Given the description of an element on the screen output the (x, y) to click on. 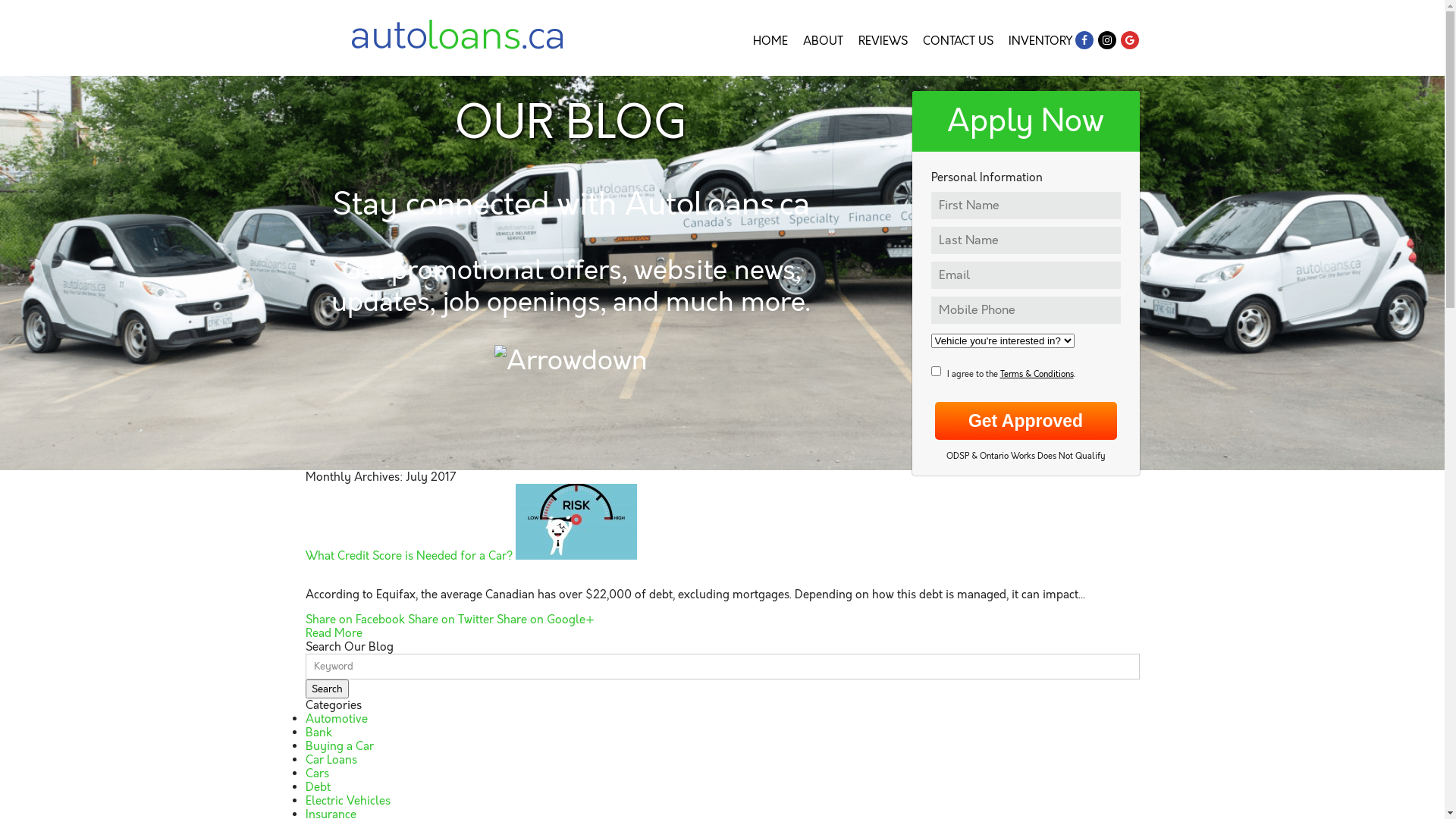
Share on Facebook Element type: text (354, 619)
CONTACT US Element type: text (957, 40)
INVENTORY Element type: text (1040, 40)
What Credit Score is Needed for a Car? Element type: hover (576, 555)
Share on Twitter Element type: text (450, 619)
Search Element type: text (326, 688)
Debt Element type: text (316, 786)
Share on Google+ Element type: text (544, 619)
HOME Element type: text (769, 40)
Bank Element type: text (317, 732)
Cars Element type: text (316, 773)
ABOUT Element type: text (822, 40)
Car Loans Element type: text (330, 759)
Buying a Car Element type: text (338, 745)
Read More Element type: text (332, 632)
Get Approved Element type: text (1025, 420)
REVIEWS Element type: text (882, 40)
Electric Vehicles Element type: text (346, 800)
What Credit Score is Needed for a Car? Element type: text (407, 555)
Terms & Conditions Element type: text (1036, 373)
Automotive Element type: text (335, 718)
